Given the description of an element on the screen output the (x, y) to click on. 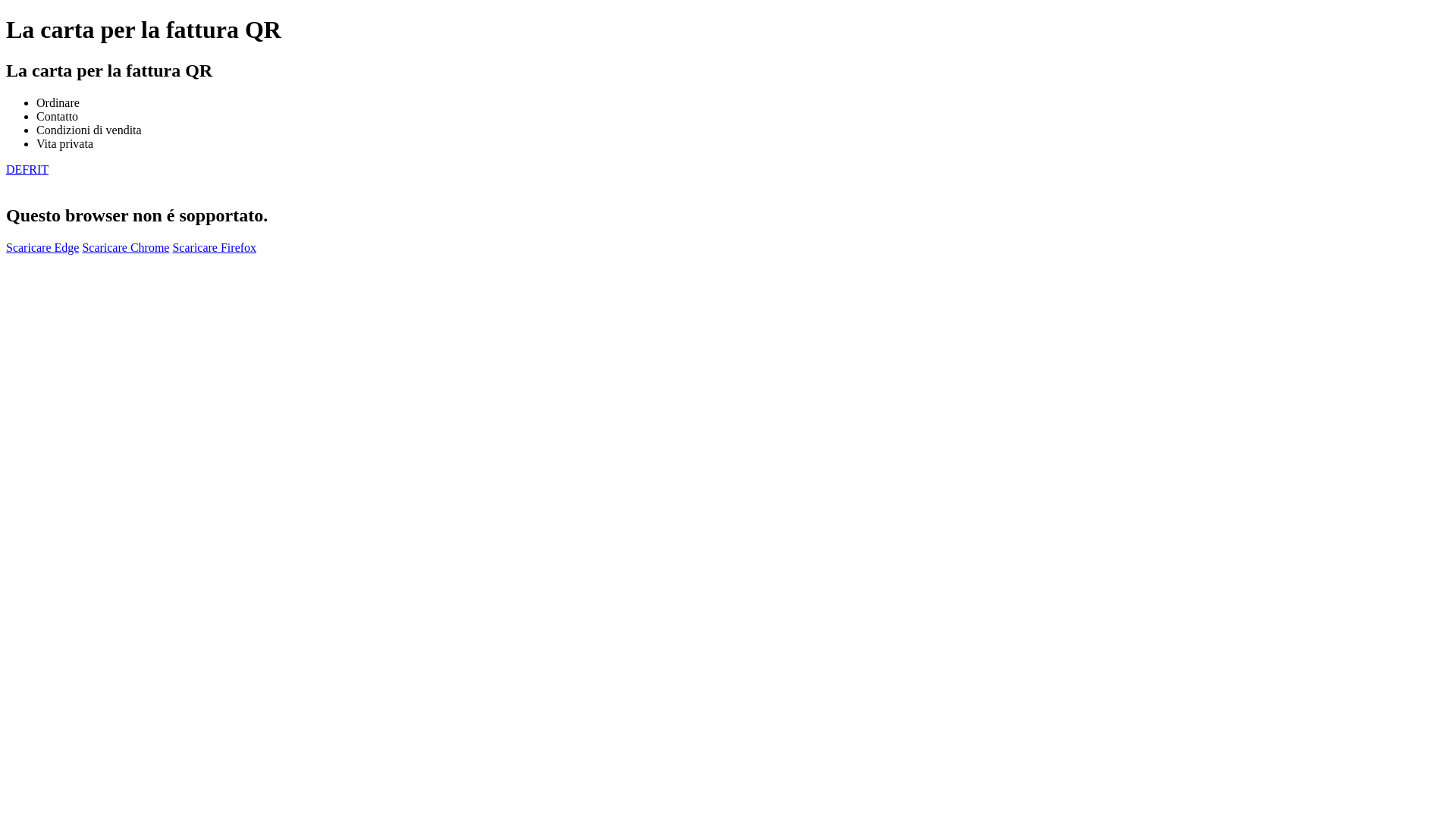
Scaricare Edge Element type: text (42, 247)
Contatto Element type: text (57, 115)
Condizioni di vendita Element type: text (88, 129)
Vita privata Element type: text (64, 143)
Scaricare Chrome Element type: text (125, 247)
IT Element type: text (42, 169)
Ordinare Element type: text (57, 102)
Scaricare Firefox Element type: text (214, 247)
DE Element type: text (13, 169)
FR Element type: text (29, 169)
